Given the description of an element on the screen output the (x, y) to click on. 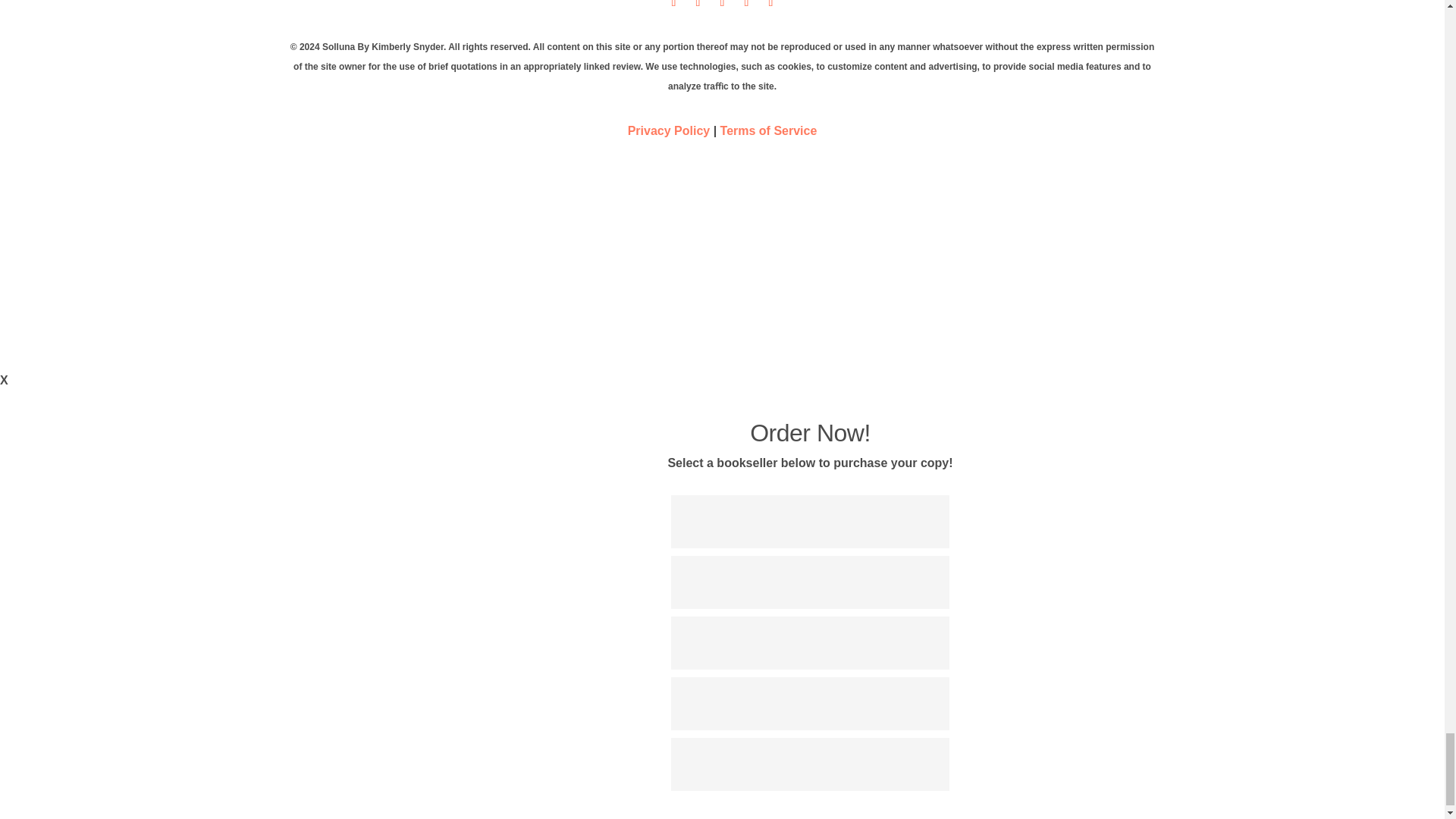
New ICON (721, 240)
Follow on Instagram (770, 7)
Follow on Youtube (721, 7)
Follow on Facebook (697, 7)
Follow on Pinterest (745, 7)
Follow on X (673, 7)
